Given the description of an element on the screen output the (x, y) to click on. 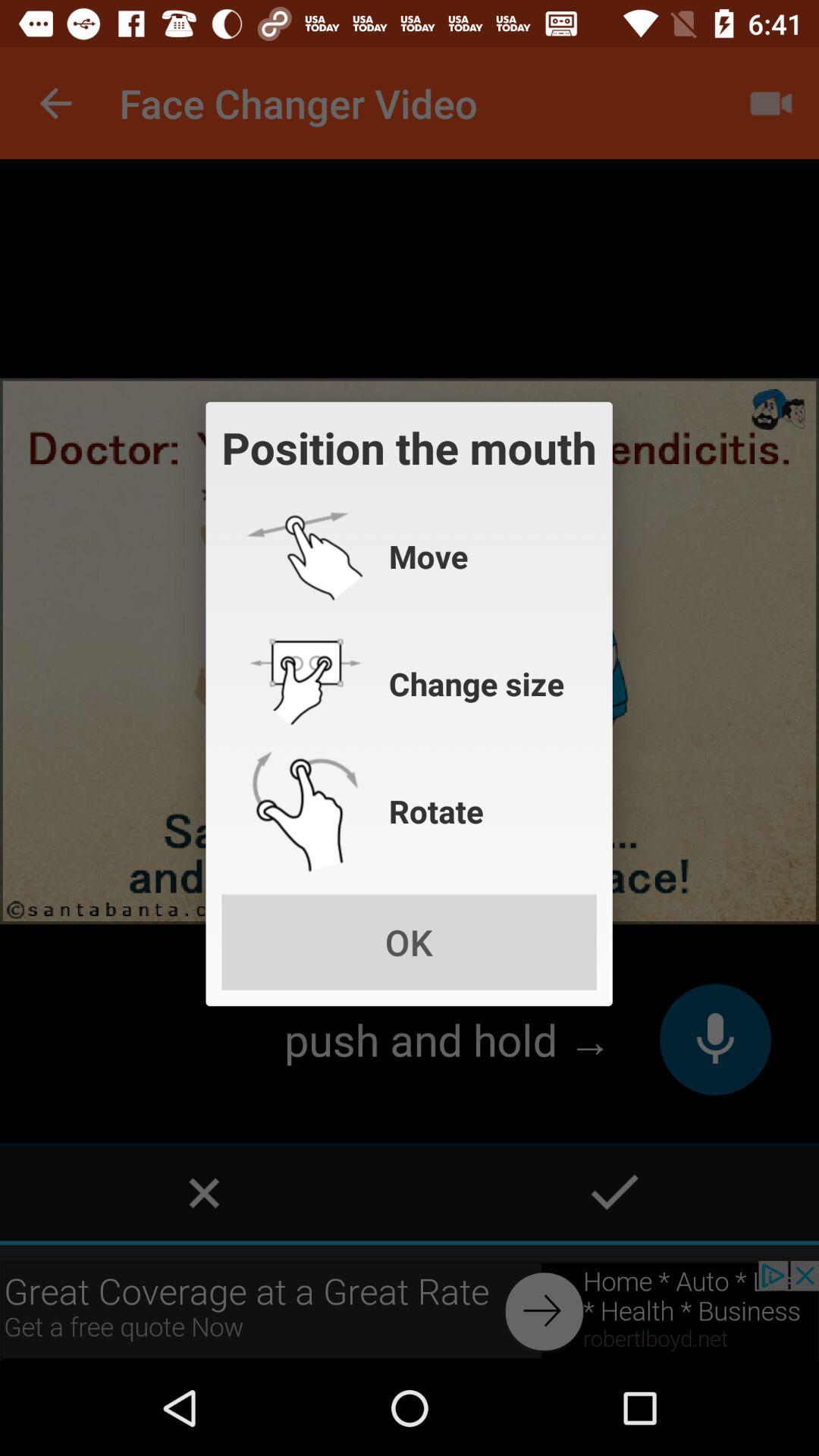
launch ok (408, 942)
